Given the description of an element on the screen output the (x, y) to click on. 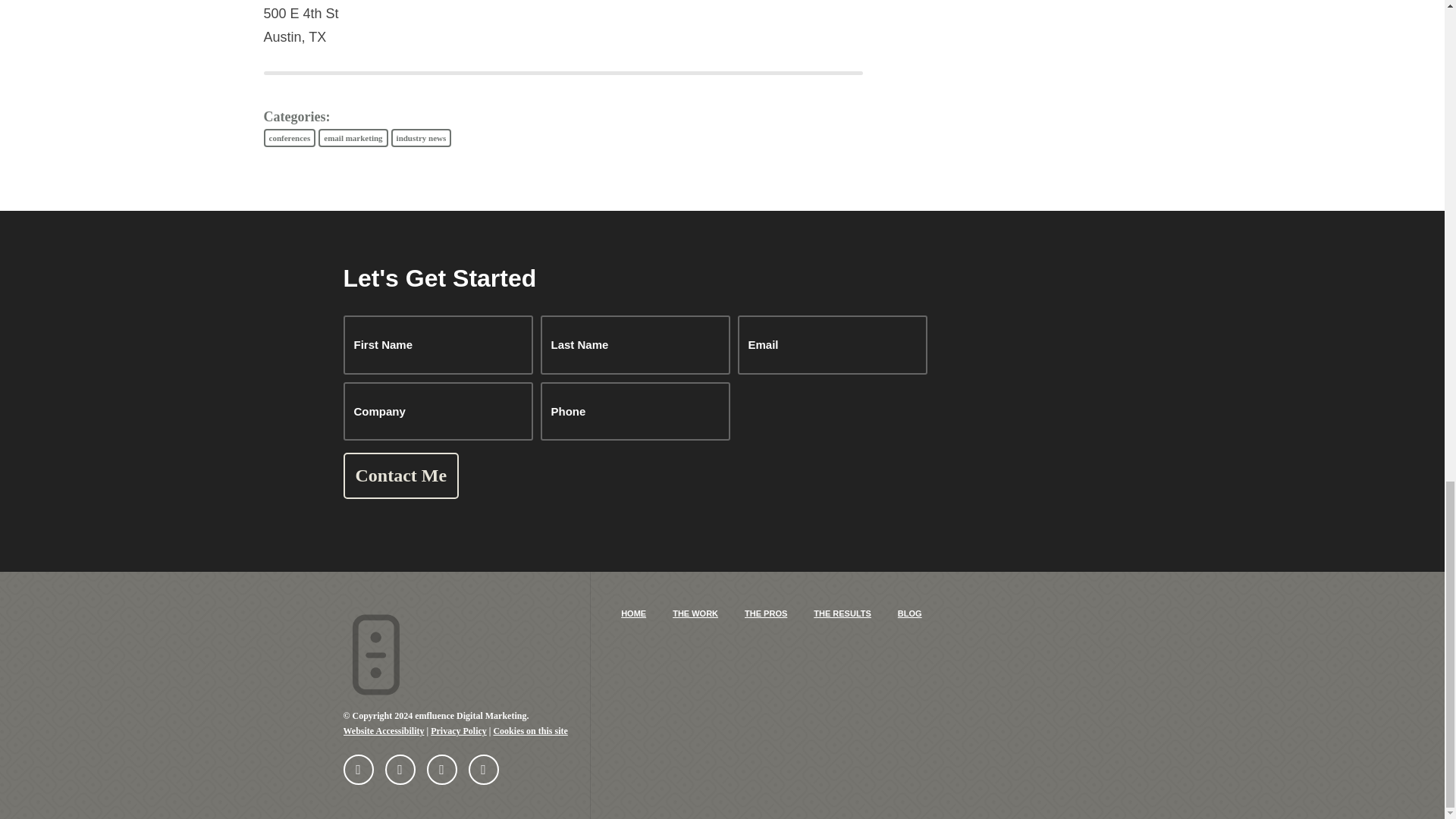
Contact Me (400, 475)
